Given the description of an element on the screen output the (x, y) to click on. 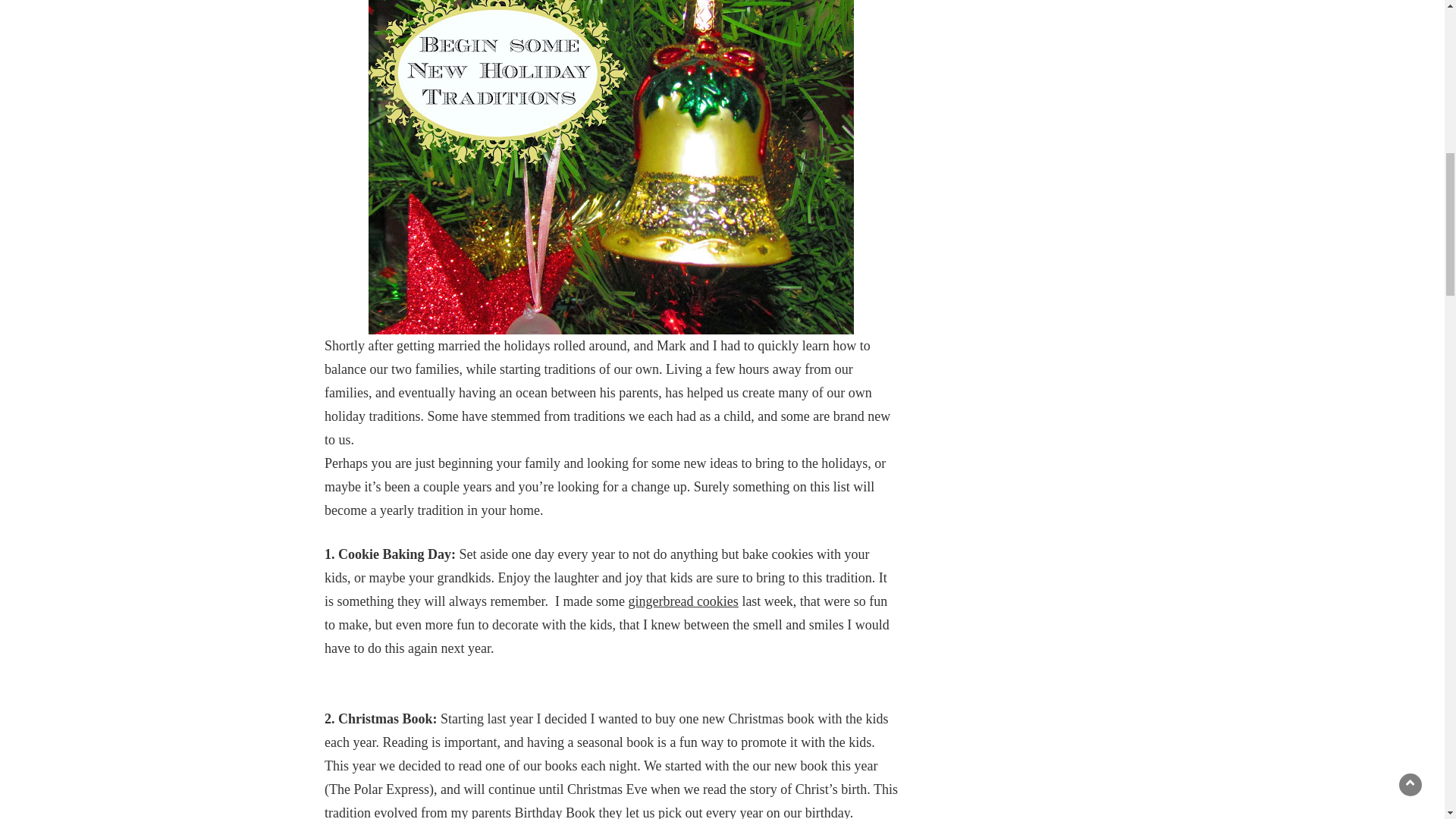
gingerbread cookies (682, 601)
